Given the description of an element on the screen output the (x, y) to click on. 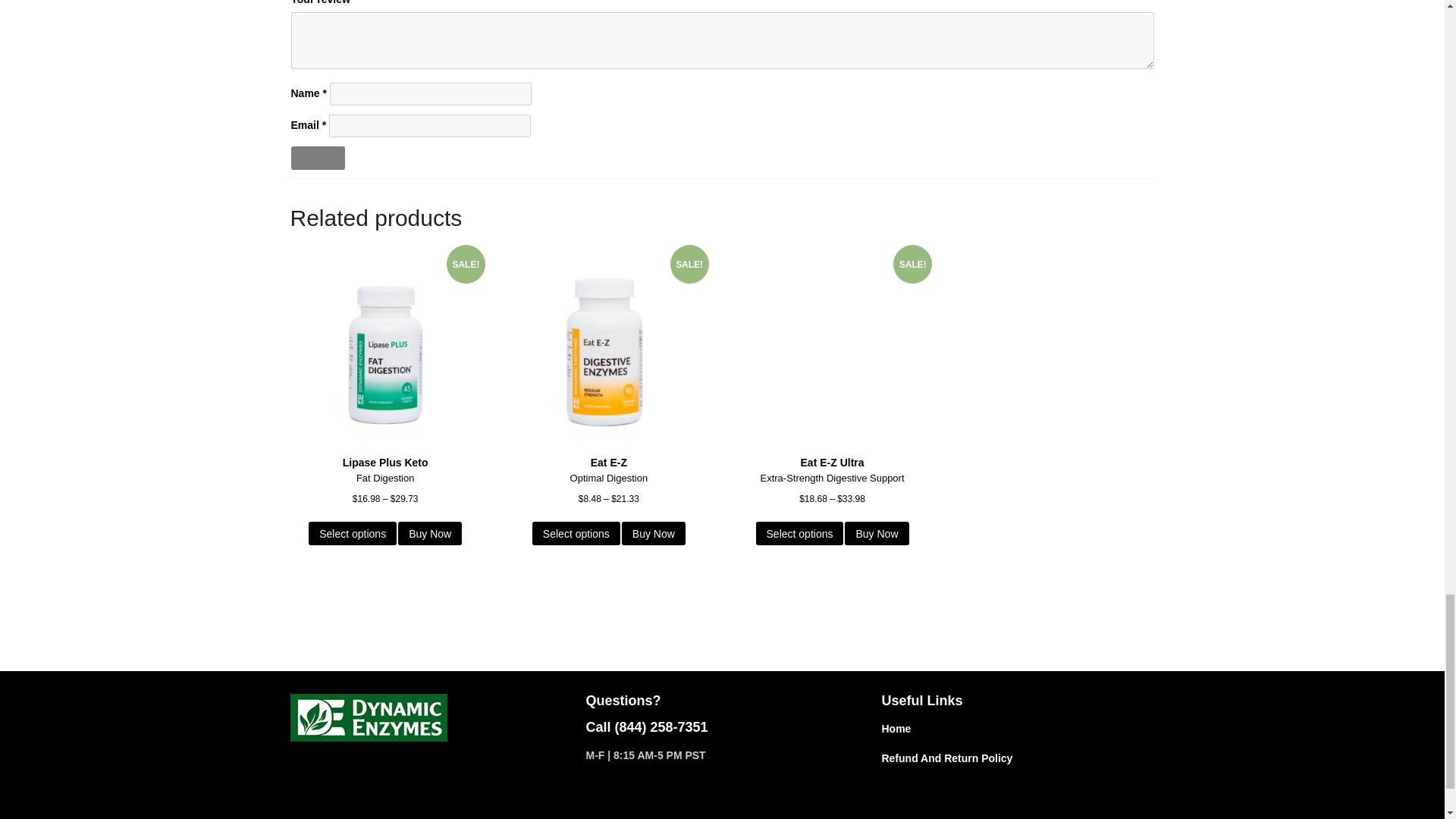
Select options (576, 533)
Select options (799, 533)
Buy Now (876, 533)
Buy Now (429, 533)
Submit (318, 157)
Select options (352, 533)
Refund And Return Policy (945, 758)
Submit (318, 157)
Home (895, 728)
Buy Now (653, 533)
